Given the description of an element on the screen output the (x, y) to click on. 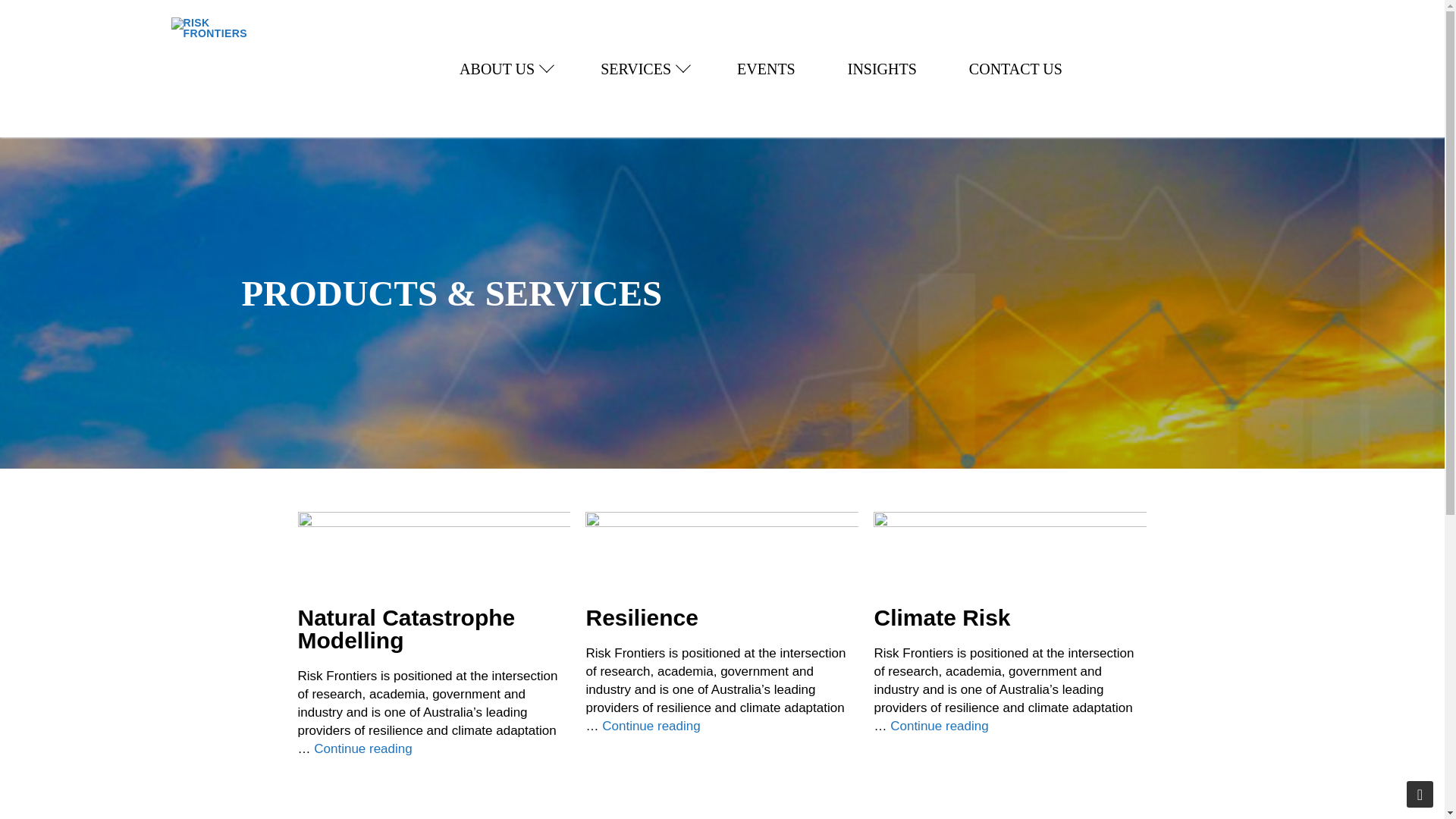
CONTACT US (1015, 67)
INSIGHTS (882, 67)
EVENTS (503, 67)
